Given the description of an element on the screen output the (x, y) to click on. 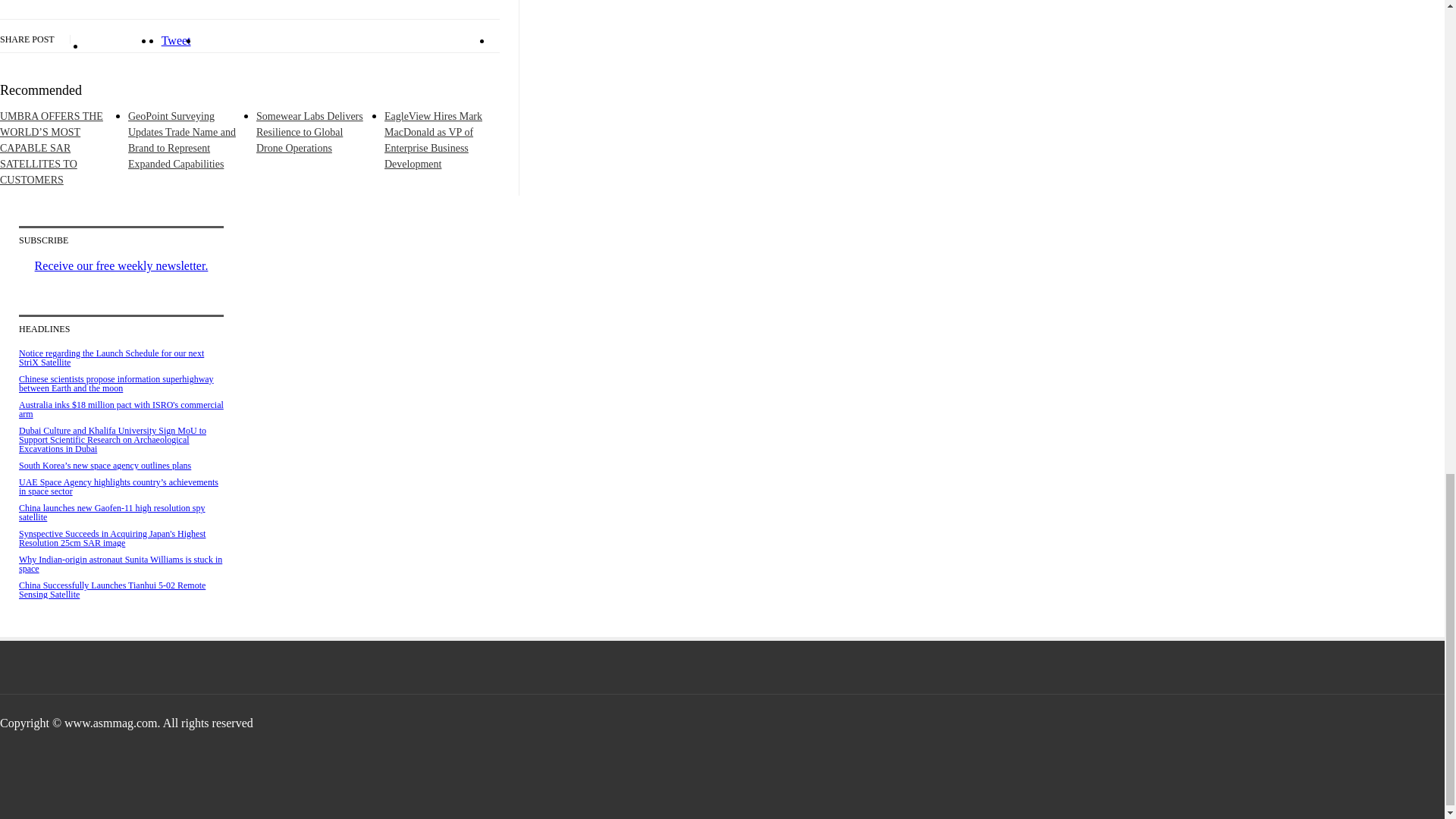
Somewear Labs Delivers Resilience to Global Drone Operations (309, 131)
